Given the description of an element on the screen output the (x, y) to click on. 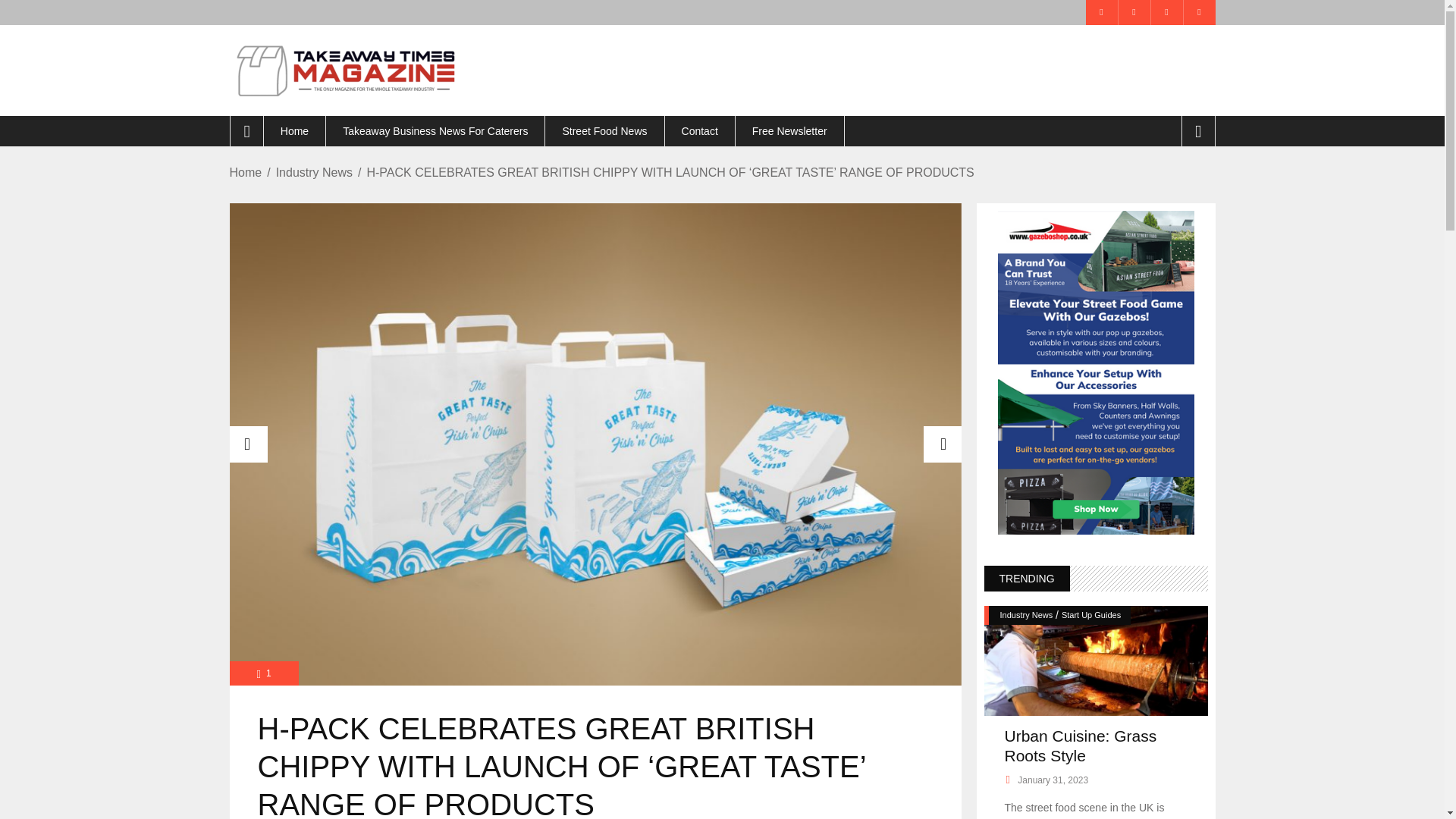
Free Newsletter (789, 131)
Street Food News (603, 131)
Home (293, 131)
Contact (699, 131)
Takeaway Business News For Caterers (434, 131)
